Given the description of an element on the screen output the (x, y) to click on. 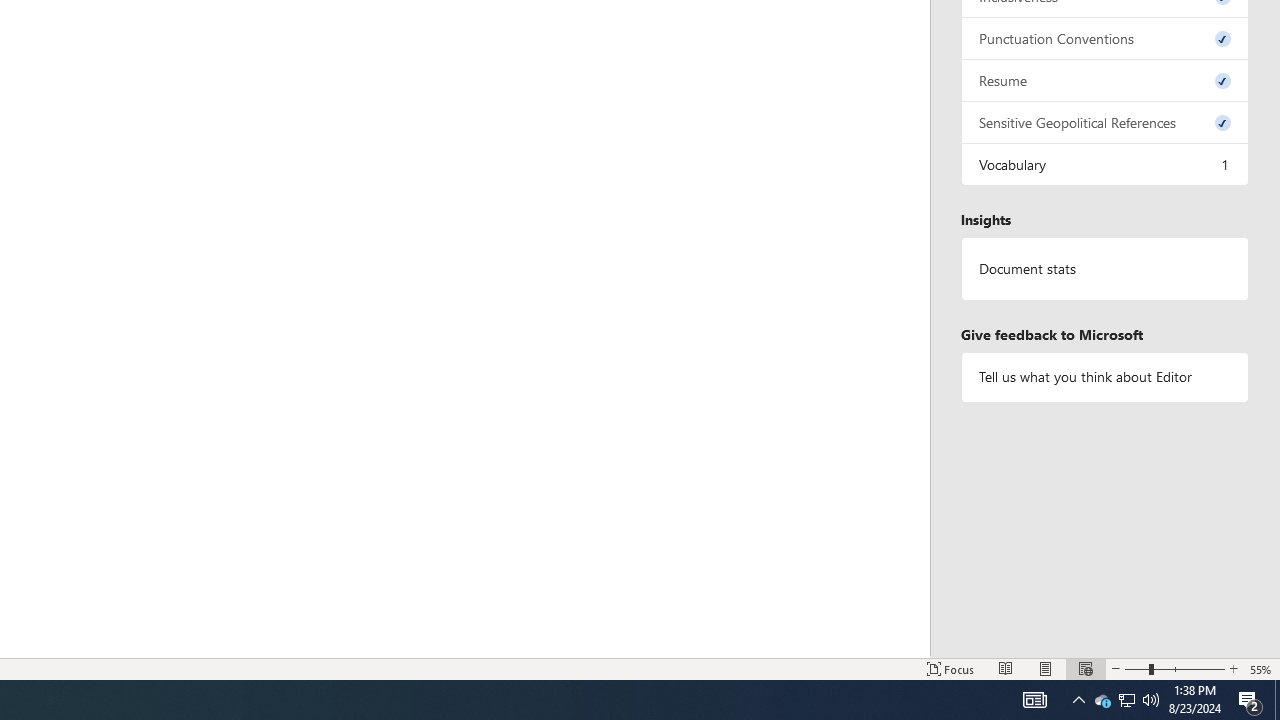
Resume, 0 issues. Press space or enter to review items. (1105, 79)
Zoom 55% (1261, 668)
Tell us what you think about Editor (1105, 376)
Zoom (1174, 668)
Vocabulary, 1 issue. Press space or enter to review items. (1105, 164)
Document statistics (1105, 269)
